Given the description of an element on the screen output the (x, y) to click on. 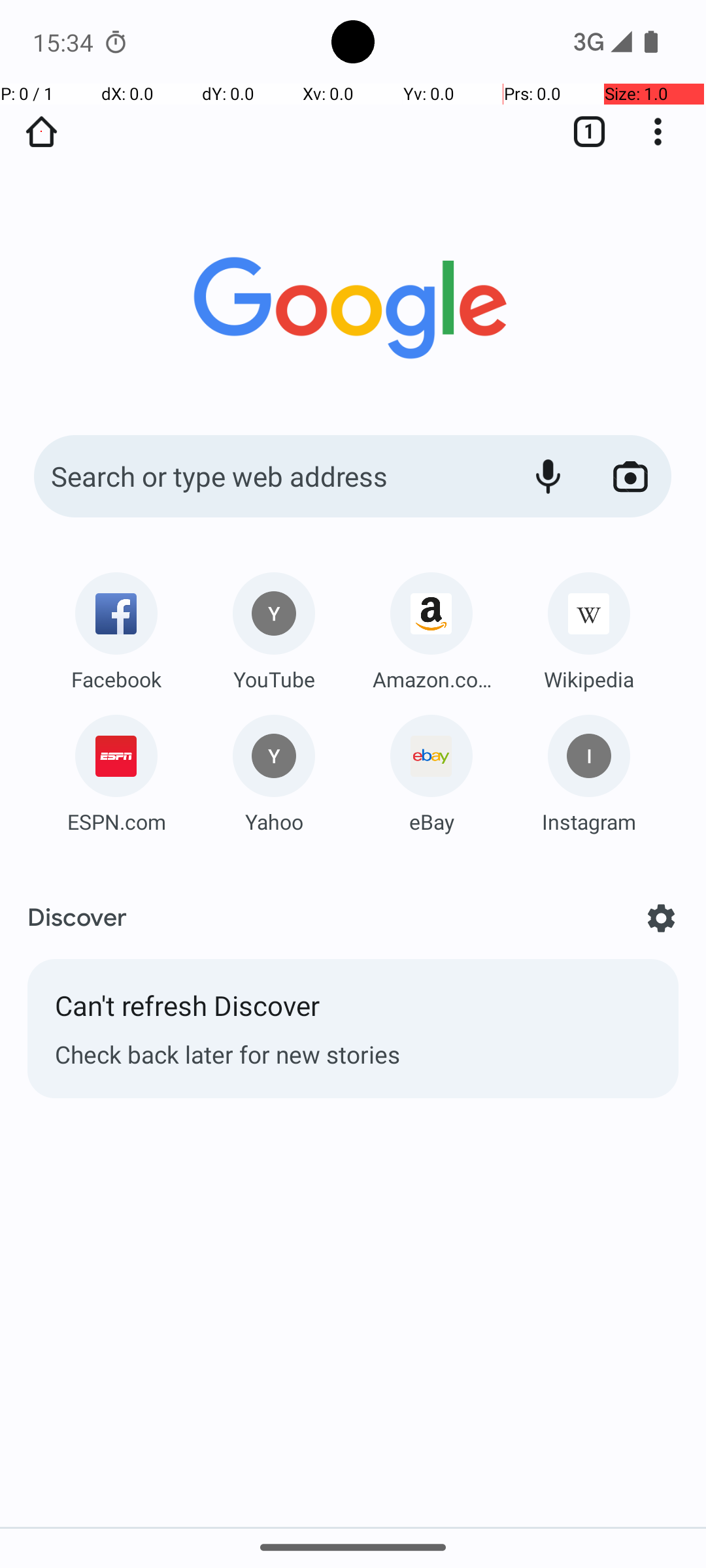
Can't refresh Discover Element type: android.widget.TextView (352, 1011)
Check back later for new stories Element type: android.widget.TextView (352, 1053)
